Given the description of an element on the screen output the (x, y) to click on. 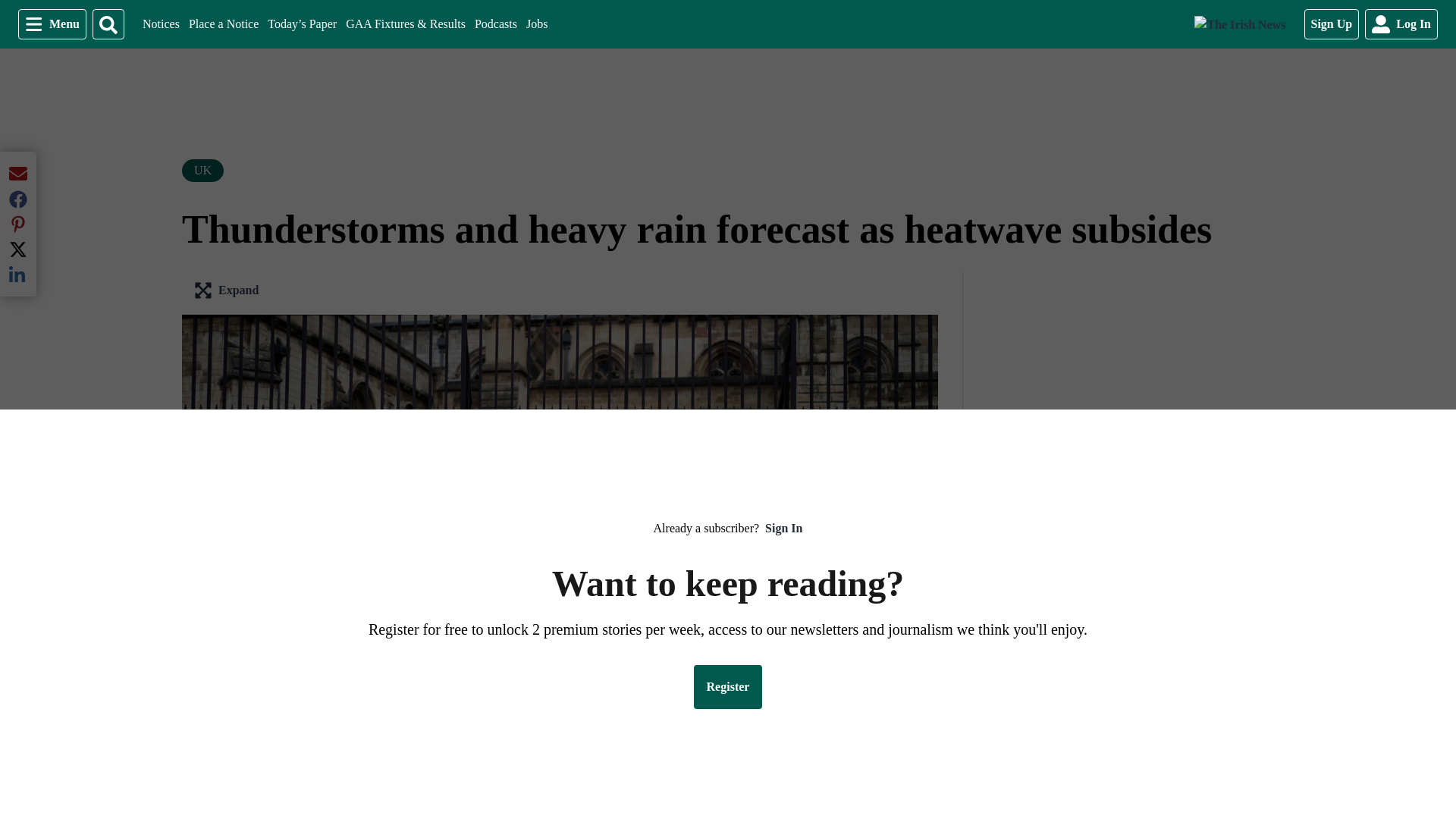
Log In (1401, 24)
Podcasts (495, 24)
The Irish News (224, 24)
Menu (1239, 23)
3rd party ad content (536, 24)
Sign Up (51, 24)
